Given the description of an element on the screen output the (x, y) to click on. 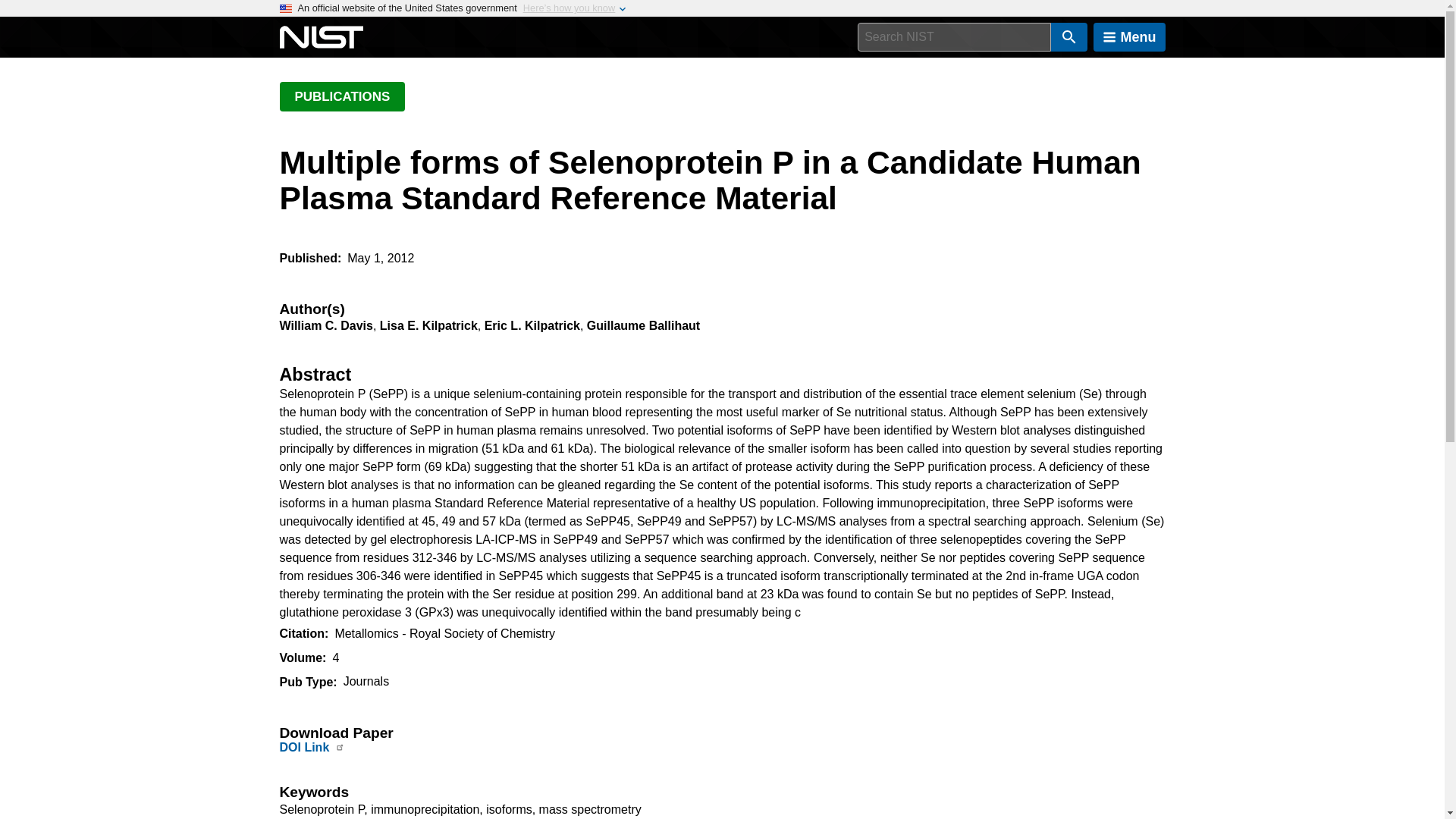
DOI Link (304, 747)
PUBLICATIONS (341, 96)
Menu (1129, 36)
National Institute of Standards and Technology (320, 36)
